Given the description of an element on the screen output the (x, y) to click on. 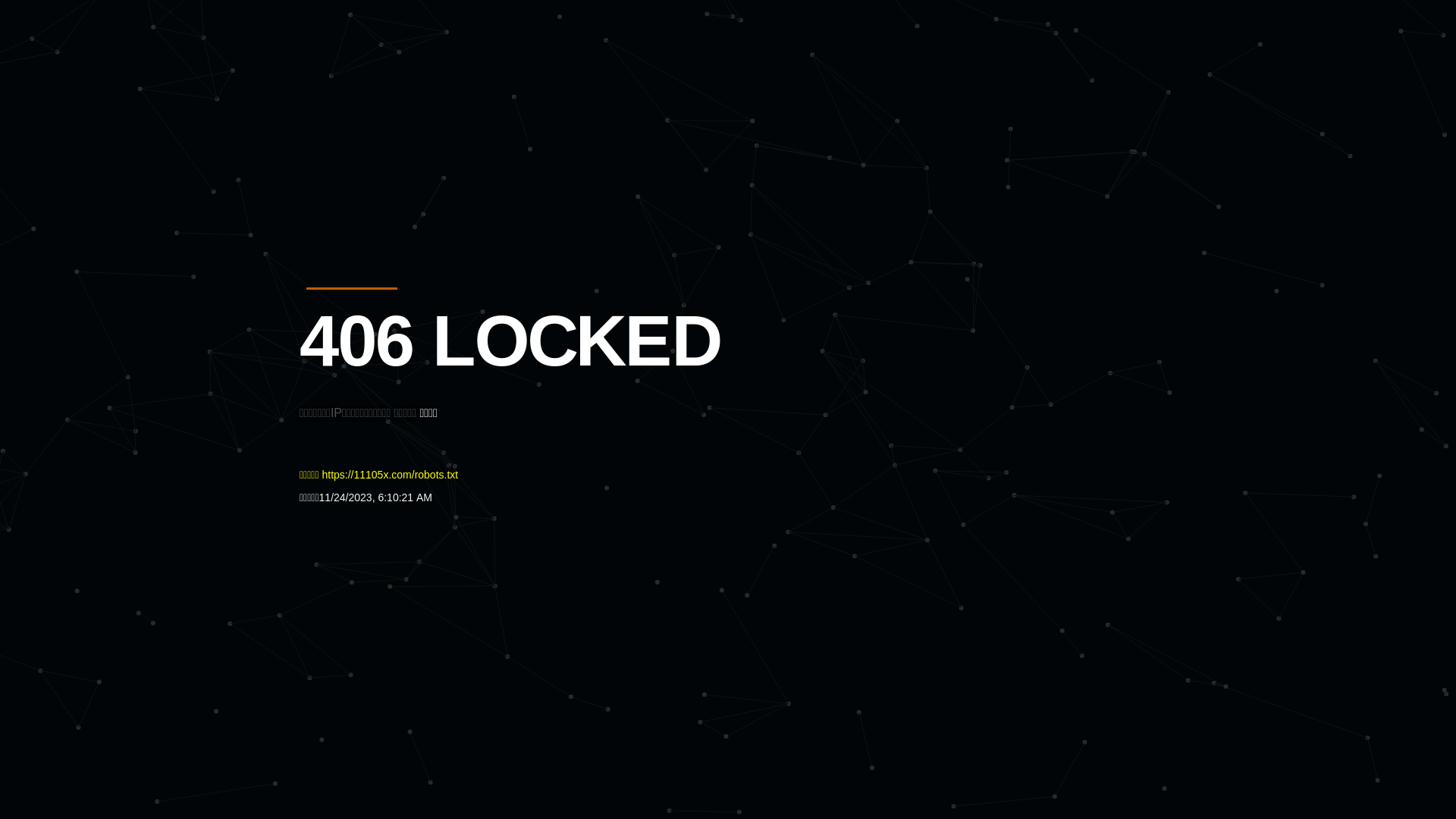
Quatro Element type: text (410, 86)
